Given the description of an element on the screen output the (x, y) to click on. 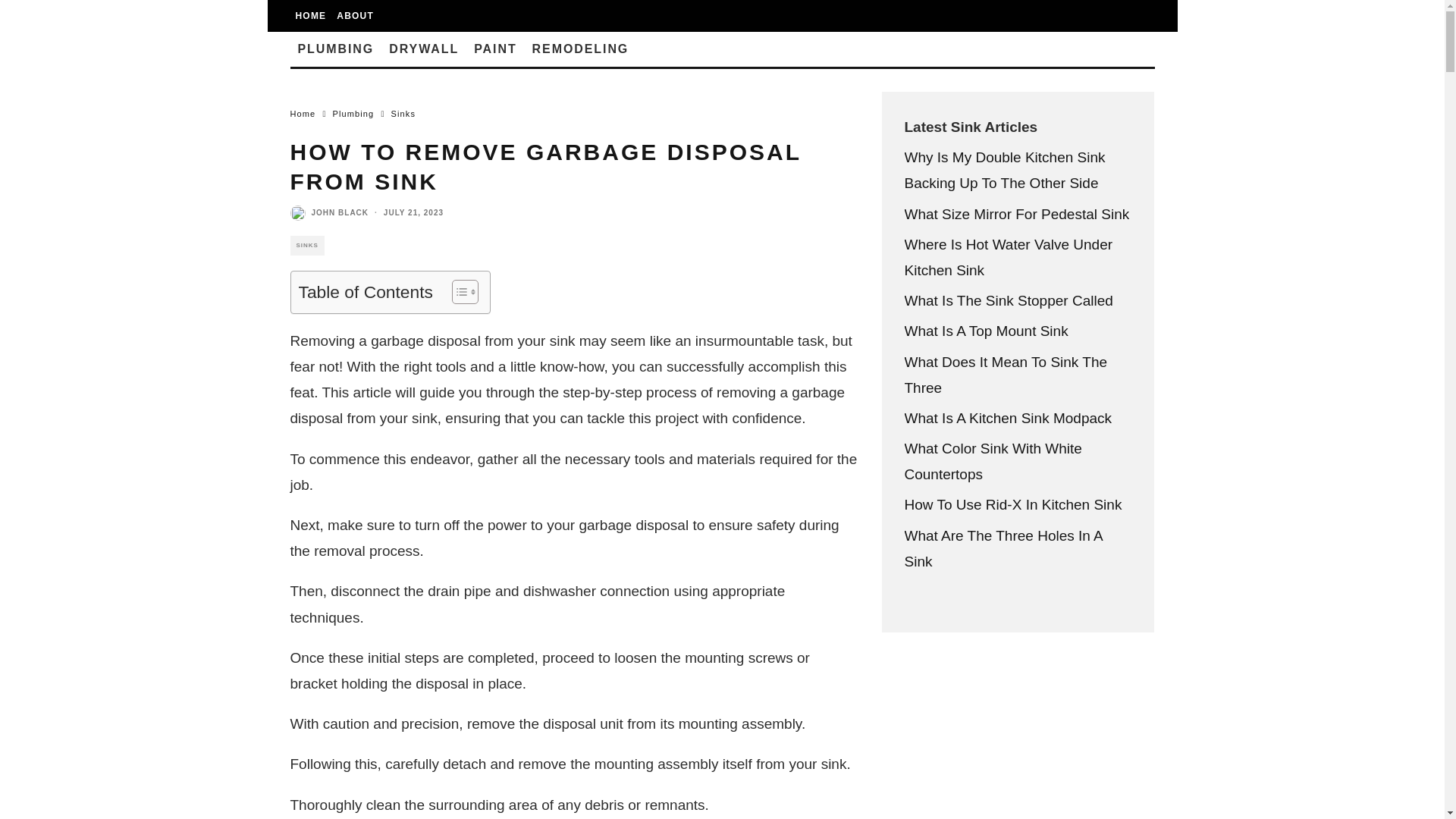
REMODELING (580, 48)
PLUMBING (335, 48)
DRYWALL (423, 48)
Home (302, 112)
HOME (310, 15)
Sinks (402, 112)
Plumbing (353, 112)
ABOUT (354, 15)
SINKS (306, 245)
PAINT (494, 48)
